Given the description of an element on the screen output the (x, y) to click on. 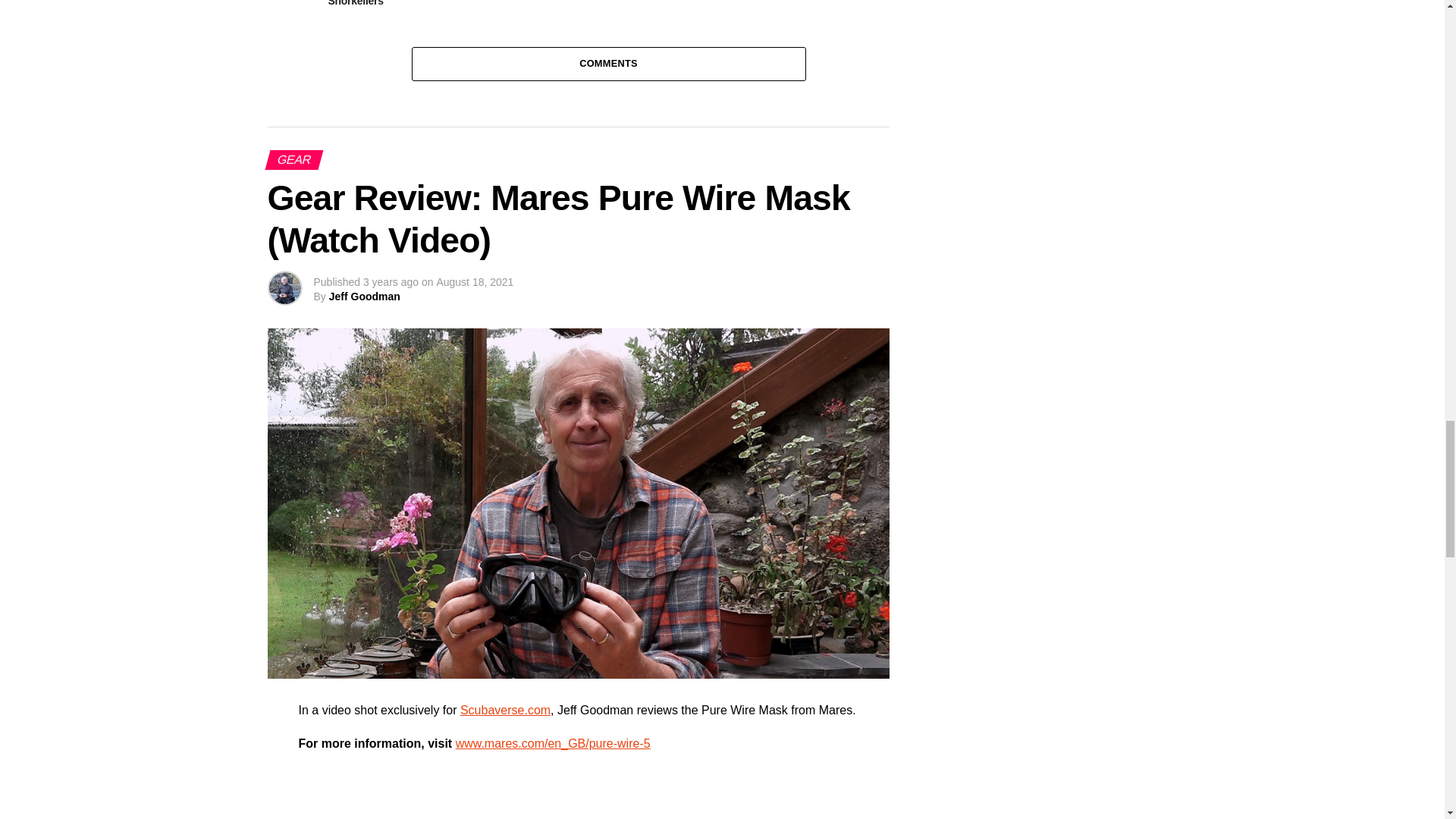
Posts by Jeff Goodman (364, 296)
